Given the description of an element on the screen output the (x, y) to click on. 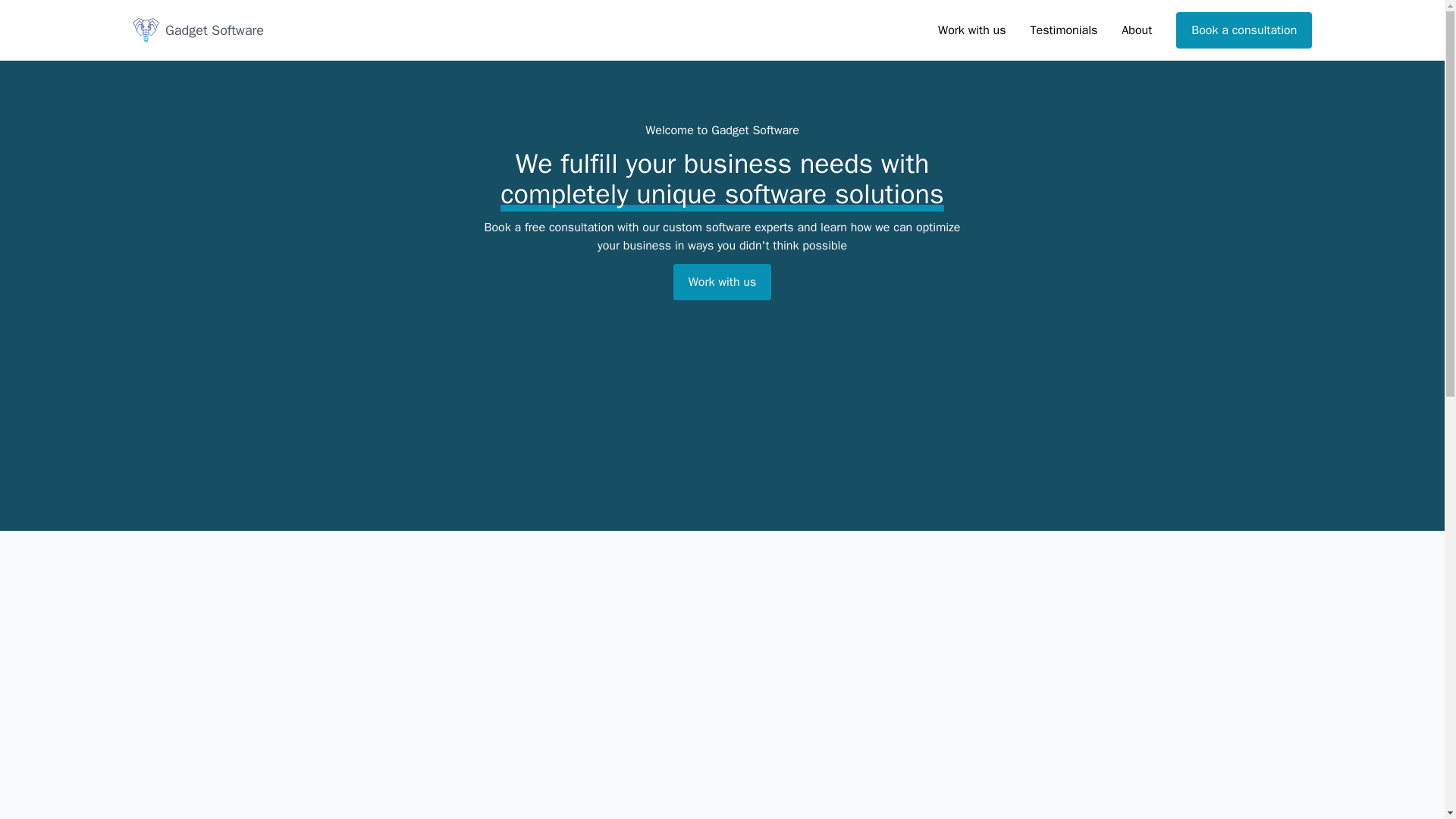
Work with us (971, 30)
Book a consultation (1243, 30)
About (1136, 30)
Work with us (721, 281)
Testimonials (1063, 30)
Gadget Software (197, 30)
